Given the description of an element on the screen output the (x, y) to click on. 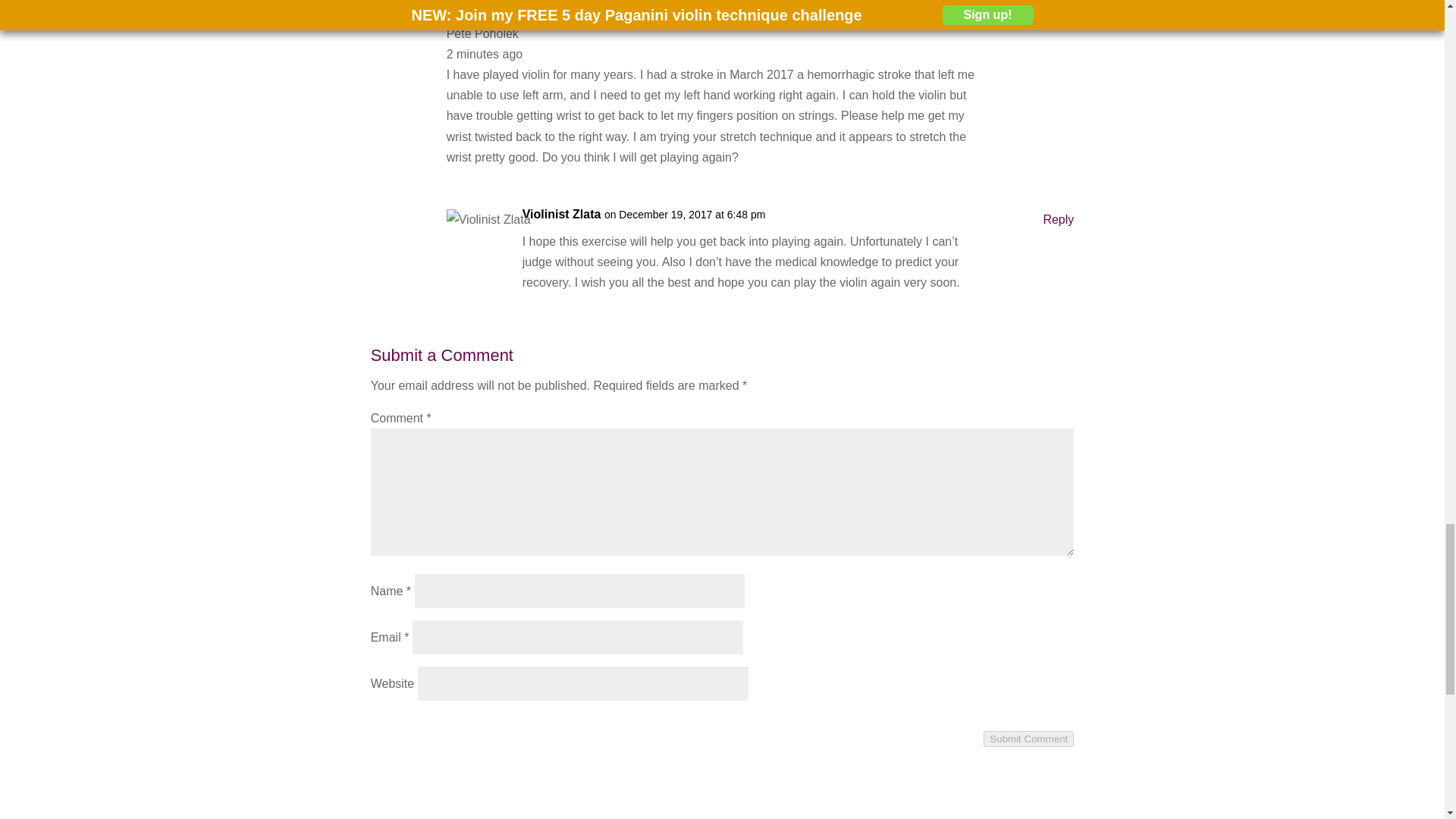
Violinist Zlata (561, 213)
Submit Comment (1029, 738)
Reply (1058, 219)
